Given the description of an element on the screen output the (x, y) to click on. 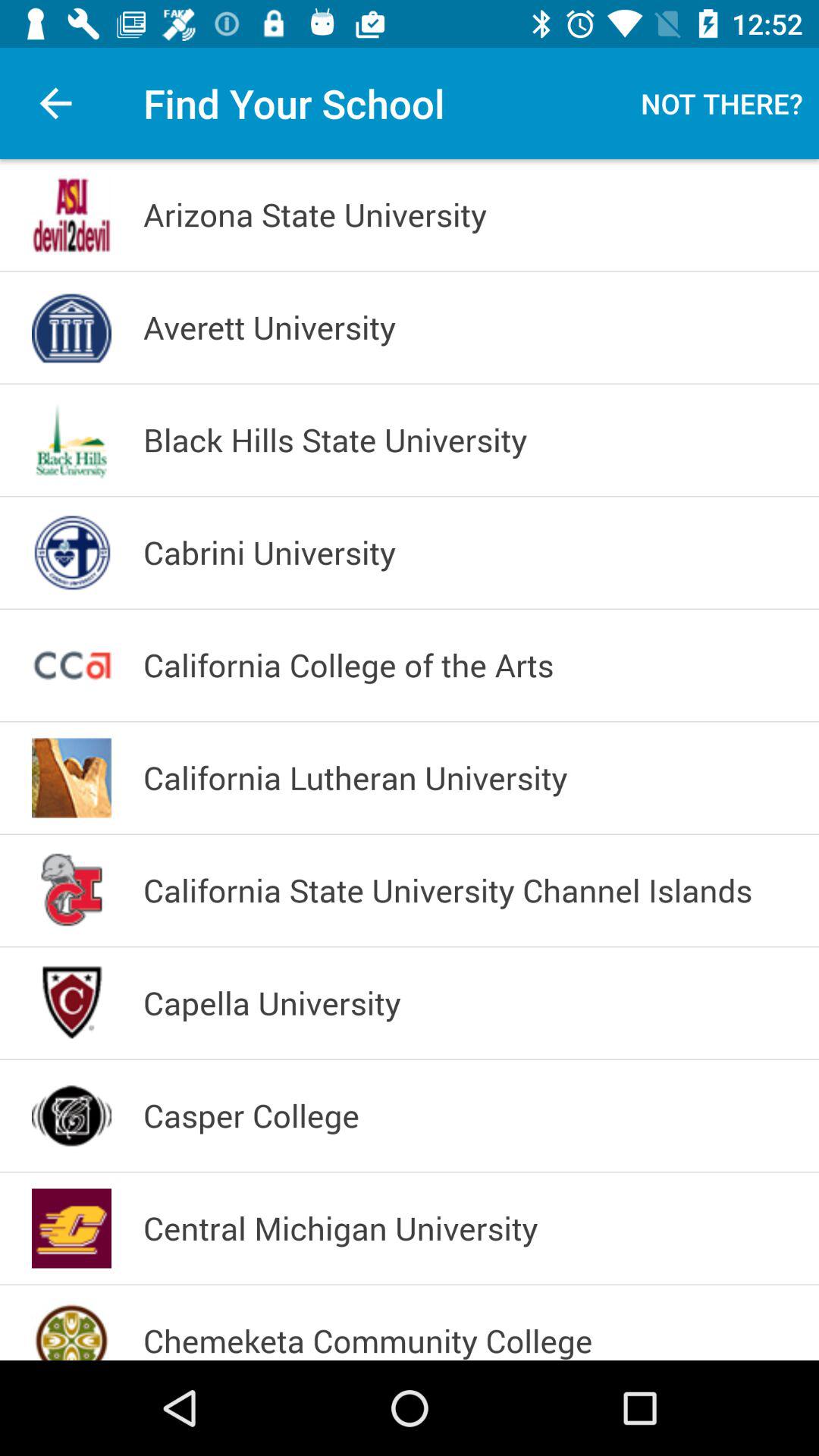
turn off the item next to find your school (55, 103)
